Given the description of an element on the screen output the (x, y) to click on. 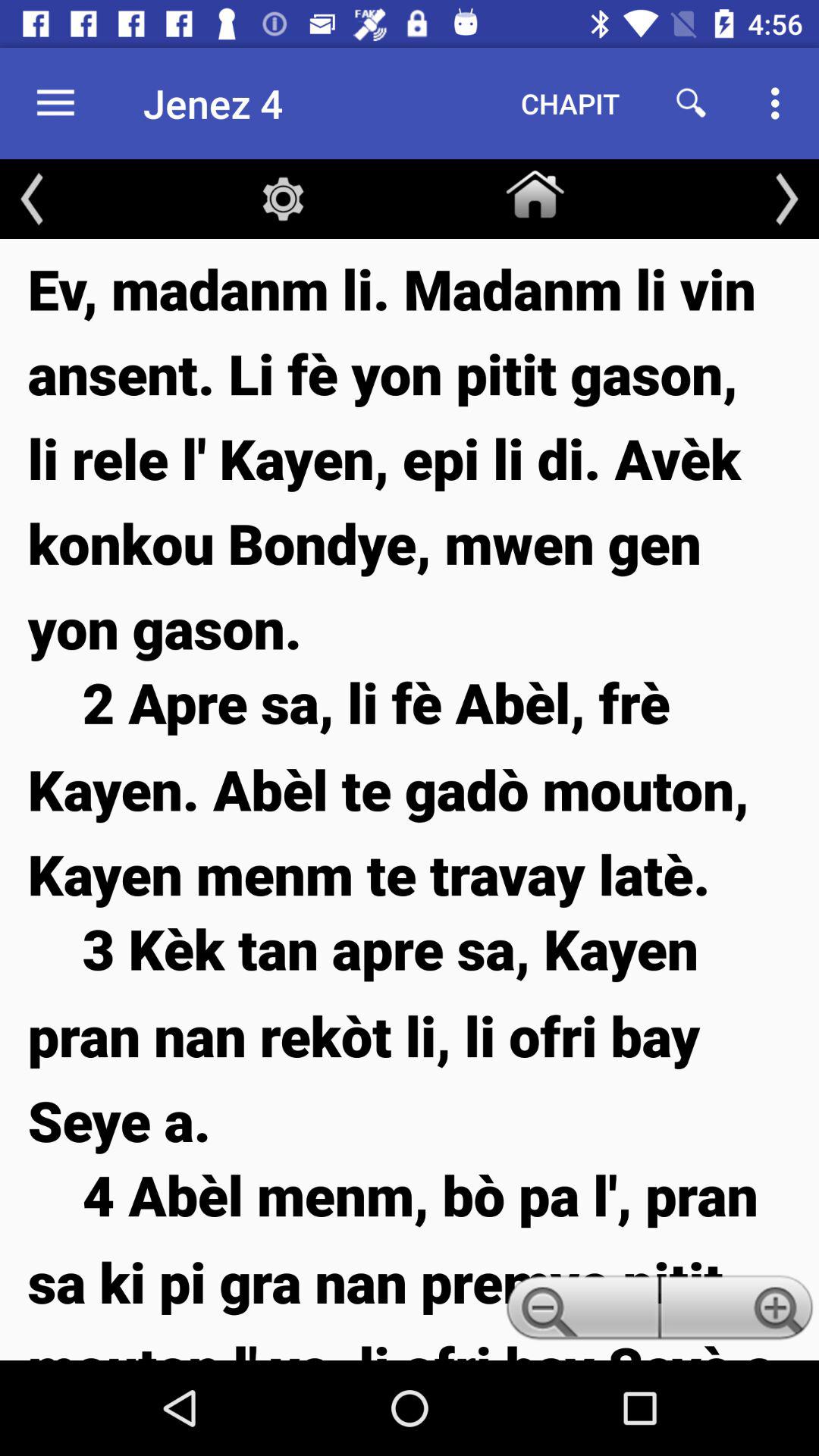
jump to chapit icon (570, 103)
